Given the description of an element on the screen output the (x, y) to click on. 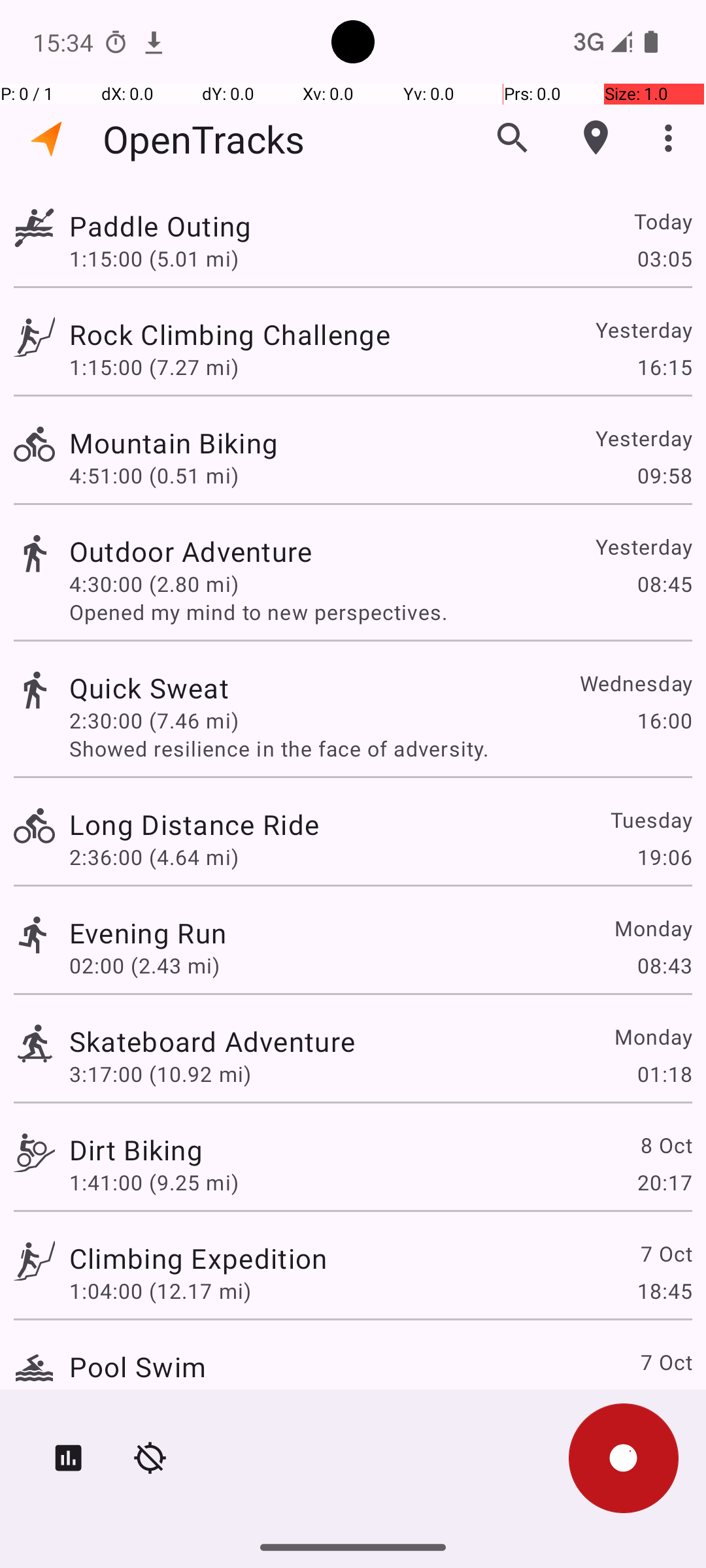
Paddle Outing Element type: android.widget.TextView (159, 225)
1:15:00 (5.01 mi) Element type: android.widget.TextView (153, 258)
03:05 Element type: android.widget.TextView (664, 258)
Rock Climbing Challenge Element type: android.widget.TextView (229, 333)
1:15:00 (7.27 mi) Element type: android.widget.TextView (153, 366)
16:15 Element type: android.widget.TextView (664, 366)
Mountain Biking Element type: android.widget.TextView (173, 442)
4:51:00 (0.51 mi) Element type: android.widget.TextView (153, 475)
09:58 Element type: android.widget.TextView (664, 475)
4:30:00 (2.80 mi) Element type: android.widget.TextView (153, 583)
08:45 Element type: android.widget.TextView (664, 583)
Opened my mind to new perspectives. Element type: android.widget.TextView (380, 611)
Quick Sweat Element type: android.widget.TextView (148, 687)
2:30:00 (7.46 mi) Element type: android.widget.TextView (153, 720)
Showed resilience in the face of adversity. Element type: android.widget.TextView (380, 748)
Long Distance Ride Element type: android.widget.TextView (193, 823)
2:36:00 (4.64 mi) Element type: android.widget.TextView (153, 856)
19:06 Element type: android.widget.TextView (664, 856)
Evening Run Element type: android.widget.TextView (147, 932)
02:00 (2.43 mi) Element type: android.widget.TextView (144, 965)
08:43 Element type: android.widget.TextView (664, 965)
Skateboard Adventure Element type: android.widget.TextView (211, 1040)
3:17:00 (10.92 mi) Element type: android.widget.TextView (159, 1073)
01:18 Element type: android.widget.TextView (664, 1073)
Dirt Biking Element type: android.widget.TextView (135, 1149)
1:41:00 (9.25 mi) Element type: android.widget.TextView (153, 1182)
20:17 Element type: android.widget.TextView (664, 1182)
Climbing Expedition Element type: android.widget.TextView (197, 1257)
1:04:00 (12.17 mi) Element type: android.widget.TextView (159, 1290)
18:45 Element type: android.widget.TextView (664, 1290)
Pool Swim Element type: android.widget.TextView (137, 1366)
4:51:00 (5.70 mi) Element type: android.widget.TextView (153, 1399)
07:10 Element type: android.widget.TextView (664, 1399)
